Given the description of an element on the screen output the (x, y) to click on. 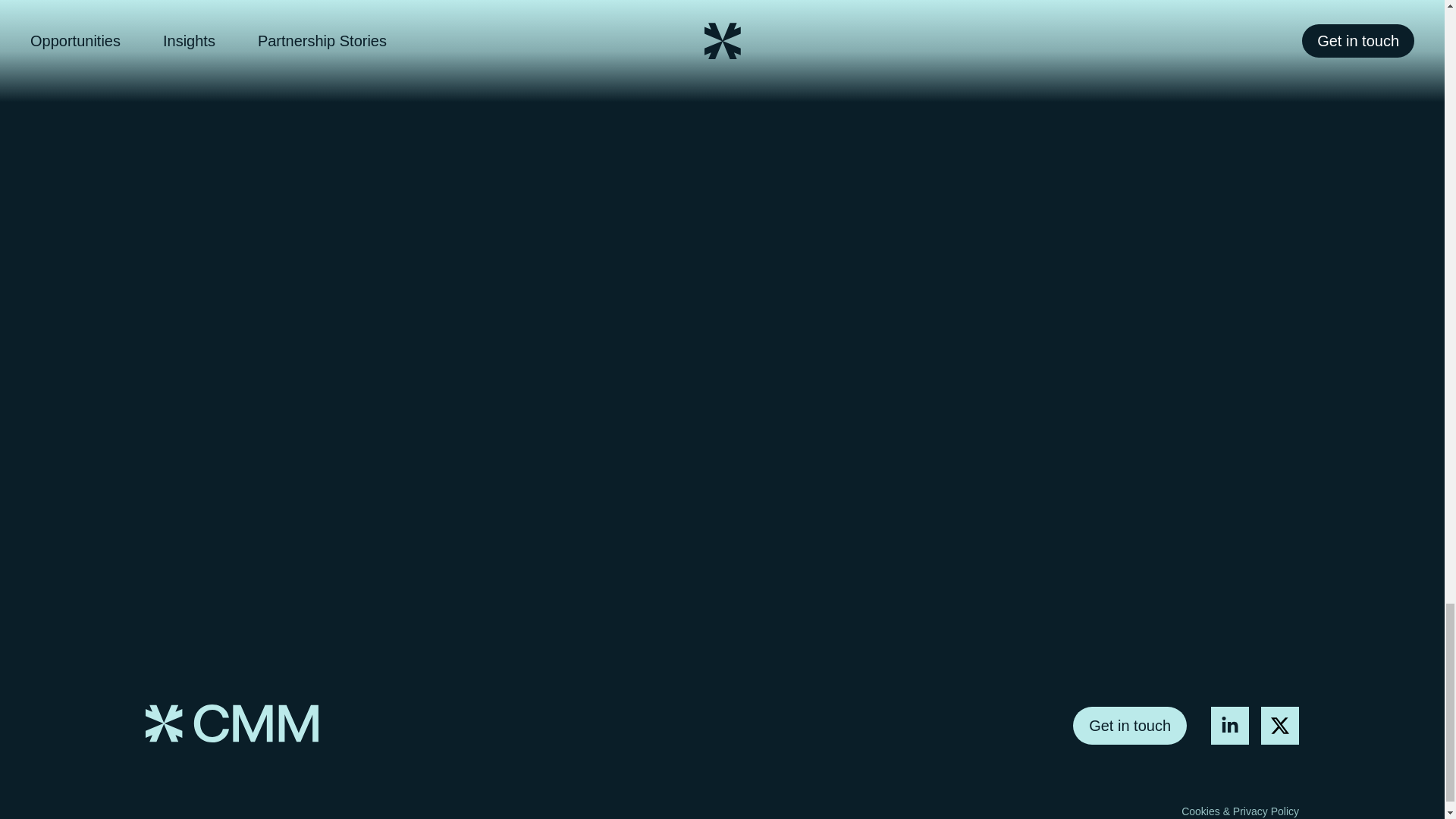
Get in touch (1129, 725)
